Given the description of an element on the screen output the (x, y) to click on. 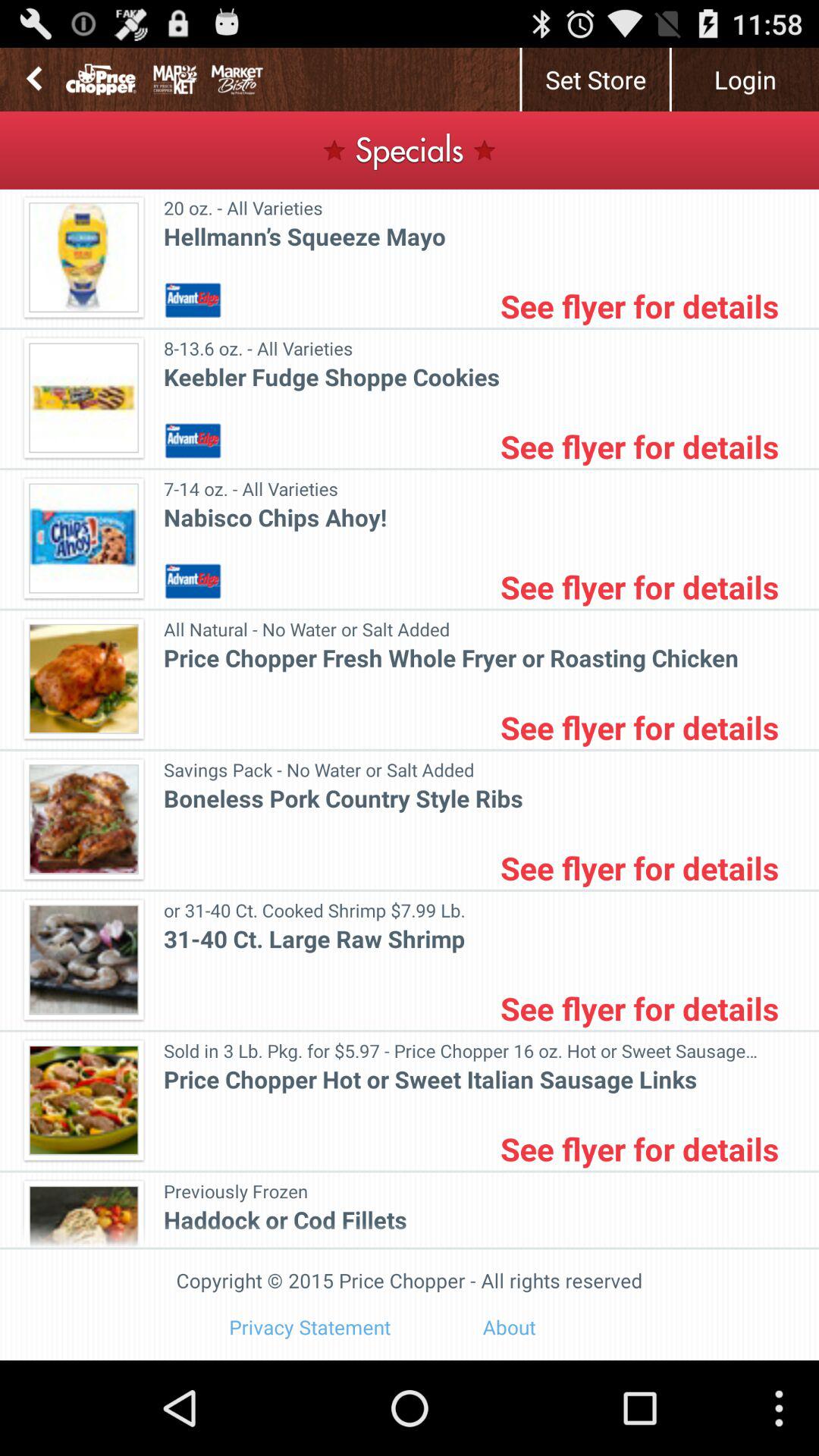
select the star  in the 1st place (339, 149)
